Given the description of an element on the screen output the (x, y) to click on. 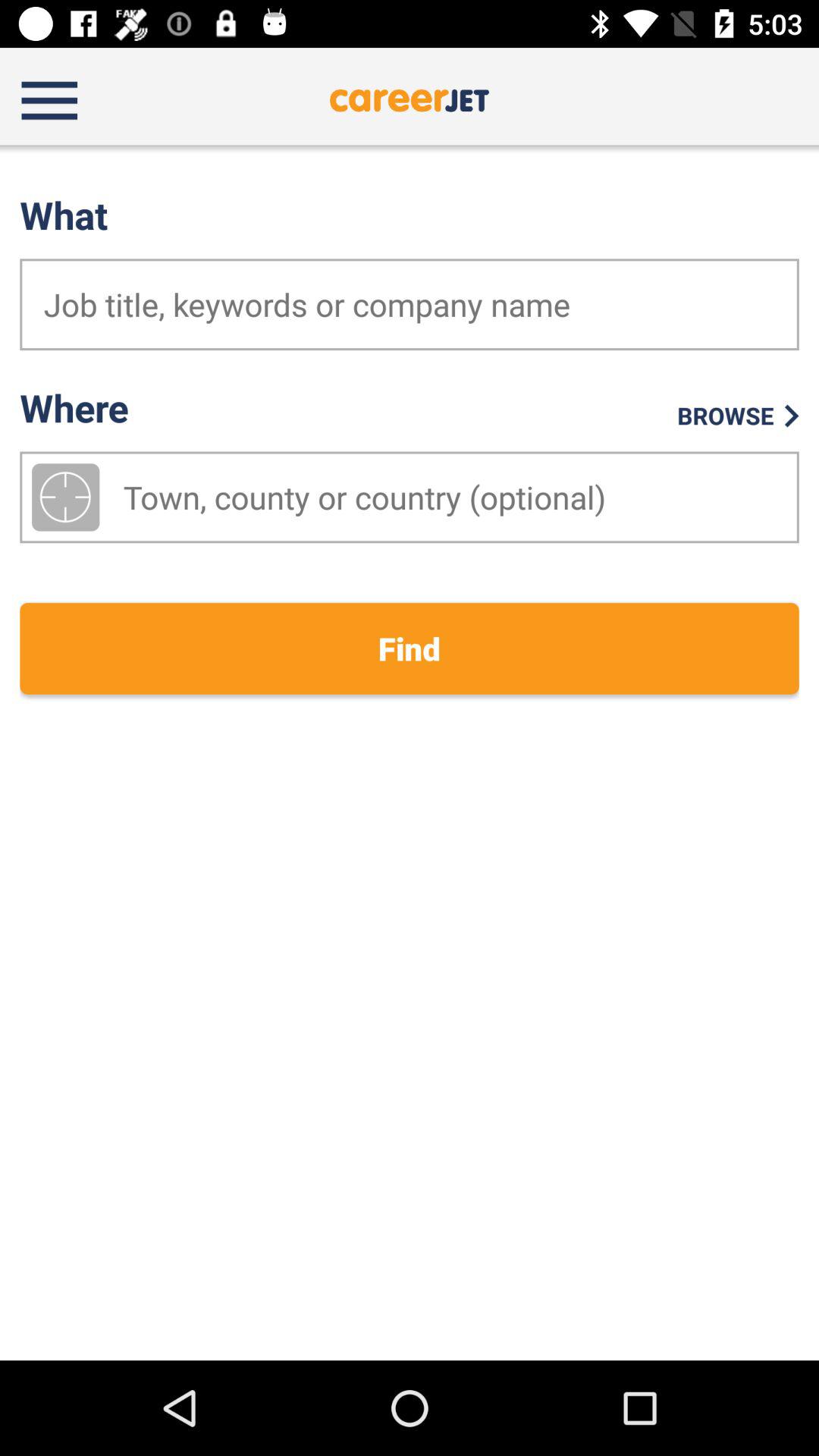
swipe until find (409, 648)
